Given the description of an element on the screen output the (x, y) to click on. 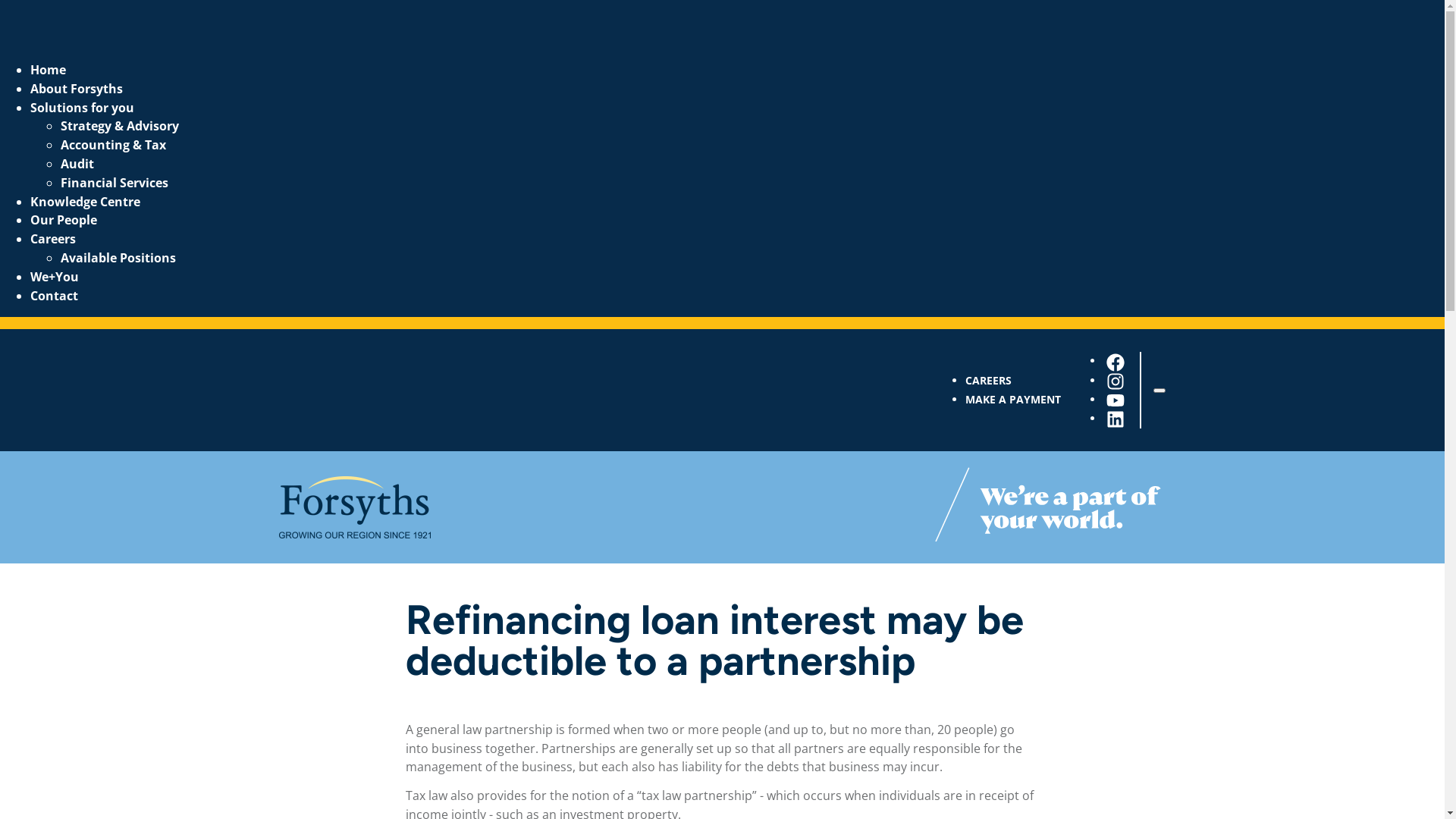
Available Positions Element type: text (117, 257)
Our People Element type: text (63, 219)
Knowledge Centre Element type: text (85, 201)
Strategy & Advisory Element type: text (119, 125)
Careers Element type: text (52, 238)
About Forsyths Element type: text (76, 88)
Financial Services Element type: text (114, 182)
Solutions for you Element type: text (82, 107)
Accounting & Tax Element type: text (113, 144)
Home Element type: text (47, 69)
Contact Element type: text (54, 295)
CAREERS Element type: text (987, 380)
Audit Element type: text (77, 163)
MAKE A PAYMENT Element type: text (1012, 399)
We+You Element type: text (54, 276)
